Given the description of an element on the screen output the (x, y) to click on. 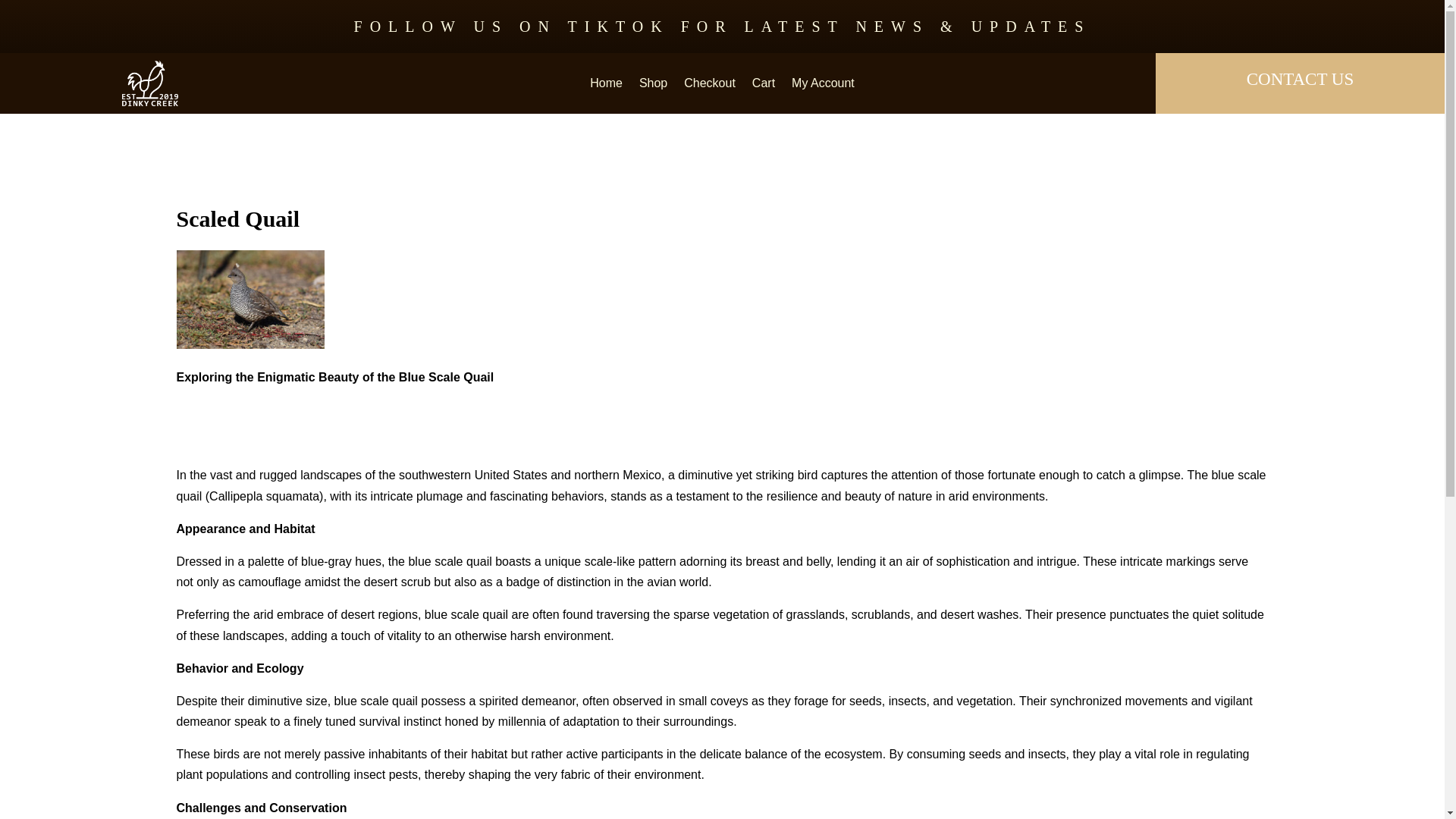
Cart (763, 86)
dinkycreeklogonew white 02 (149, 83)
Home (606, 86)
My Account (823, 86)
Checkout (709, 86)
Shop (652, 86)
